Given the description of an element on the screen output the (x, y) to click on. 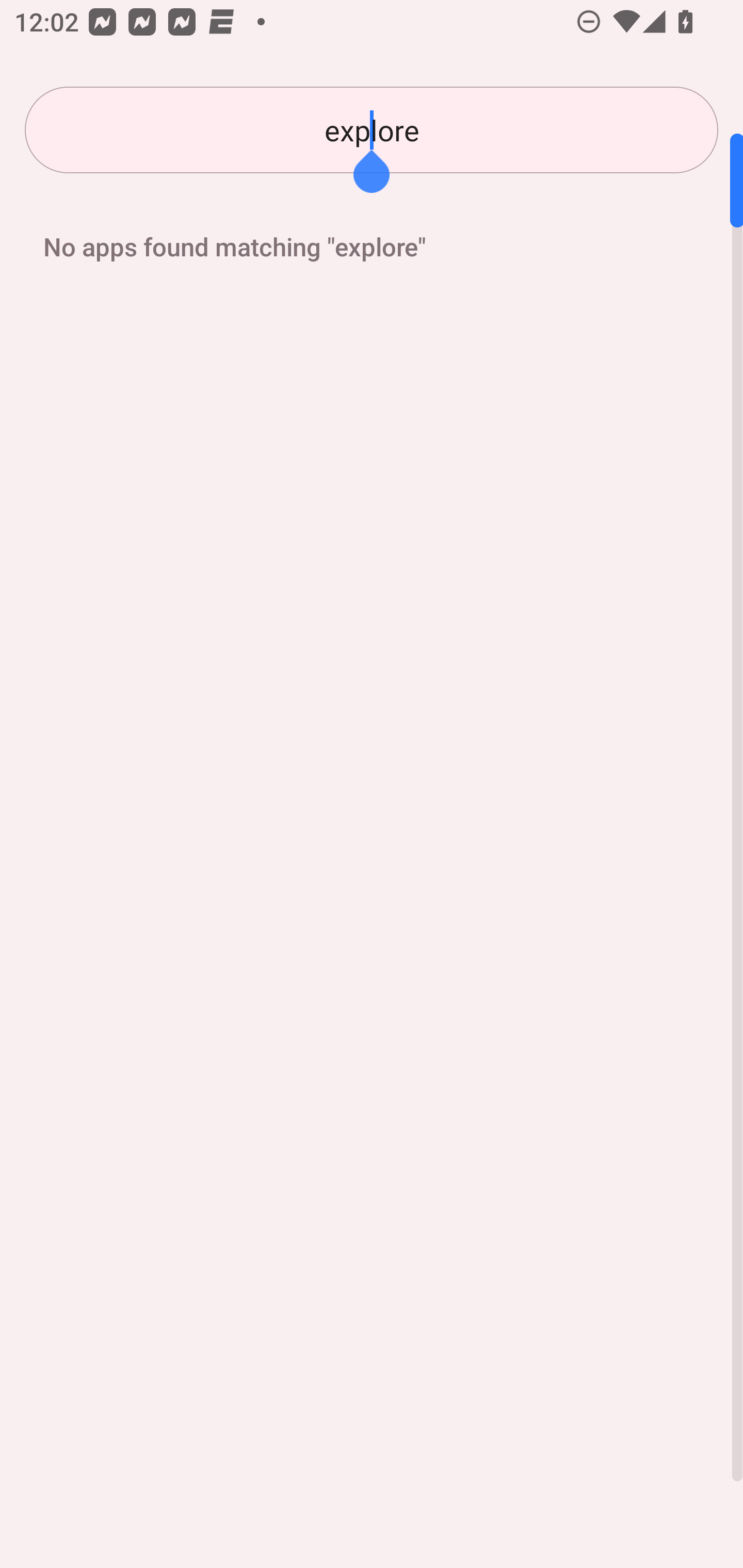
explore (371, 130)
